Given the description of an element on the screen output the (x, y) to click on. 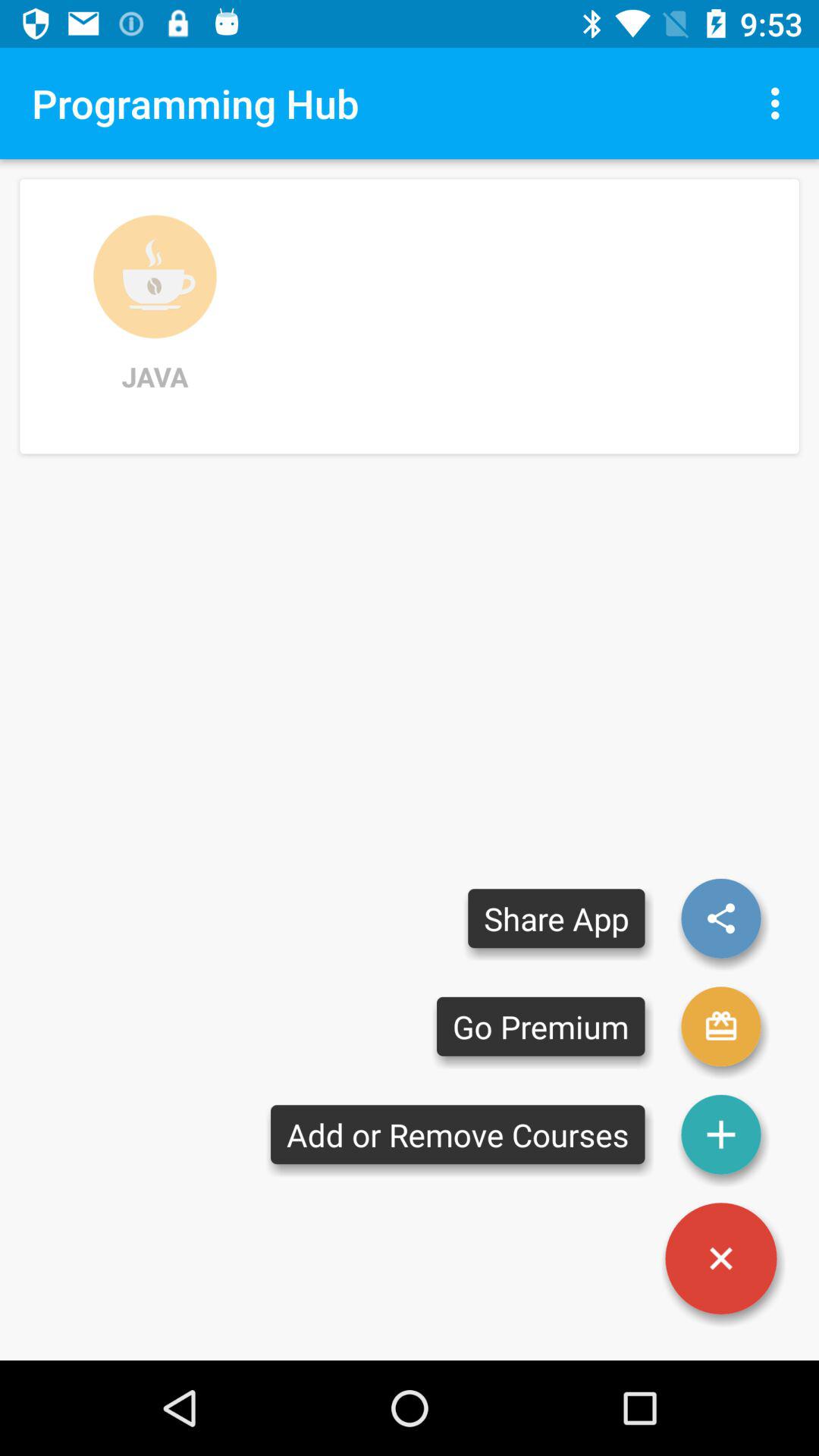
share app (721, 918)
